Given the description of an element on the screen output the (x, y) to click on. 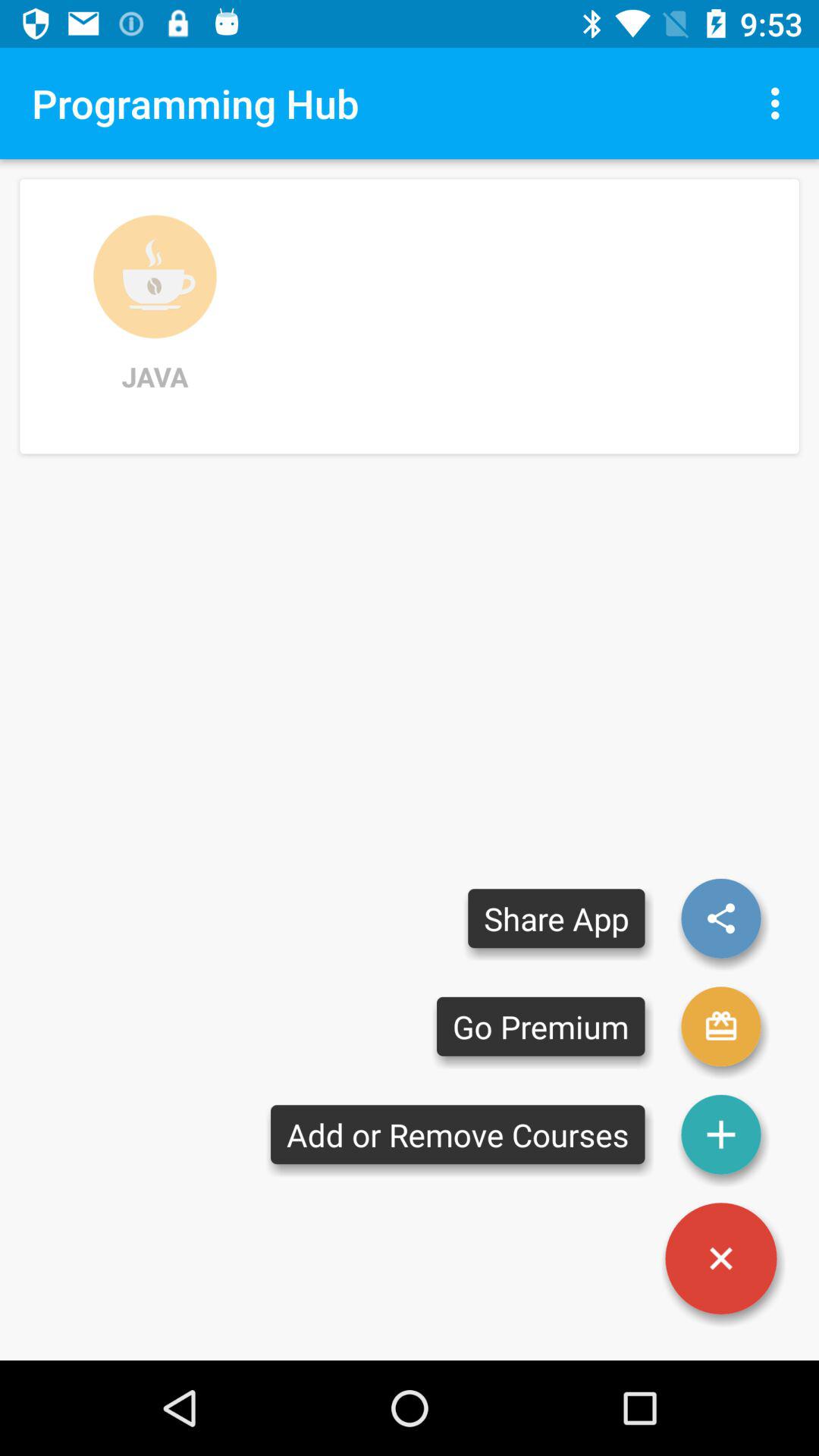
share app (721, 918)
